Given the description of an element on the screen output the (x, y) to click on. 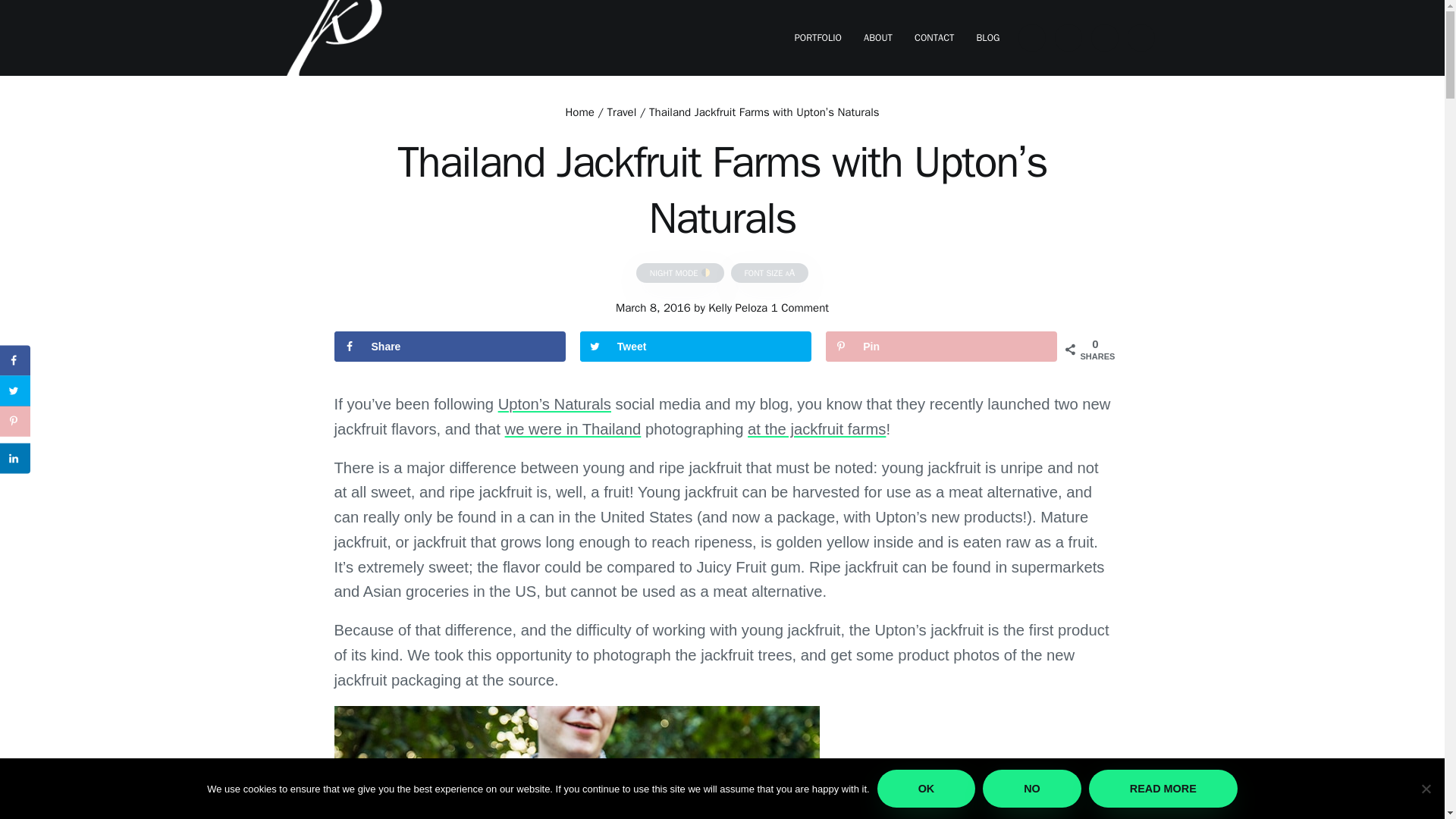
Save to Pinterest (941, 346)
ABOUT (877, 37)
NIGHT MODE (679, 271)
PORTFOLIO (817, 37)
Travel (622, 111)
Share on Facebook (448, 346)
CONTACT (933, 37)
Kelly Peloza Photo LLC (345, 93)
1 Comment (799, 307)
at the jackfruit farms (816, 428)
Share on Twitter (694, 346)
FONT SIZE AA (769, 271)
Home (579, 111)
Pin (941, 346)
